Given the description of an element on the screen output the (x, y) to click on. 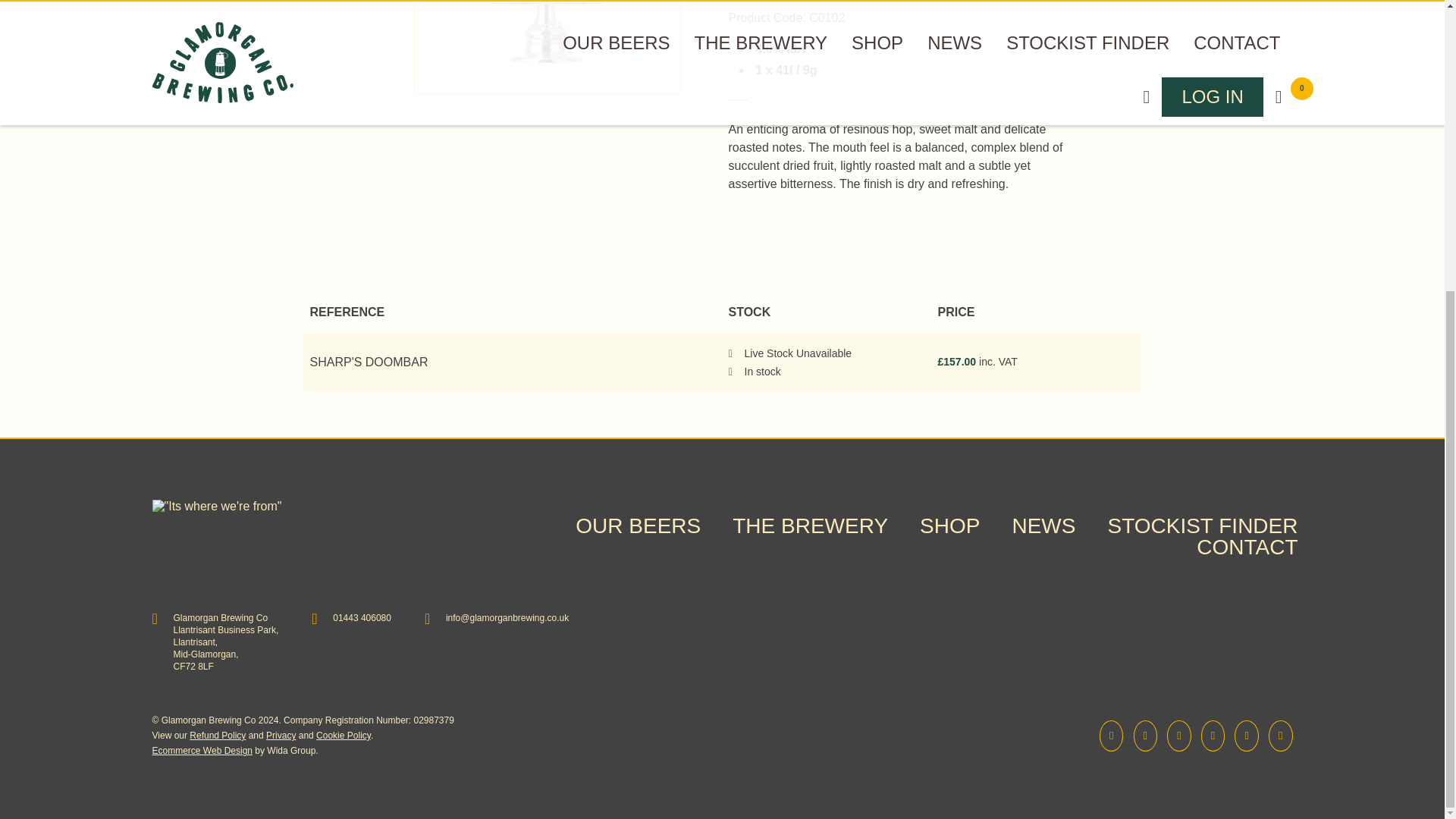
SHOP (949, 525)
STOCKIST FINDER (1201, 525)
THE BREWERY (810, 525)
Ecommerce Web Design (201, 750)
NEWS (1043, 525)
Privacy (280, 735)
Cookie Policy (343, 735)
CONTACT (1246, 546)
OUR BEERS (637, 525)
Refund Policy (217, 735)
